Given the description of an element on the screen output the (x, y) to click on. 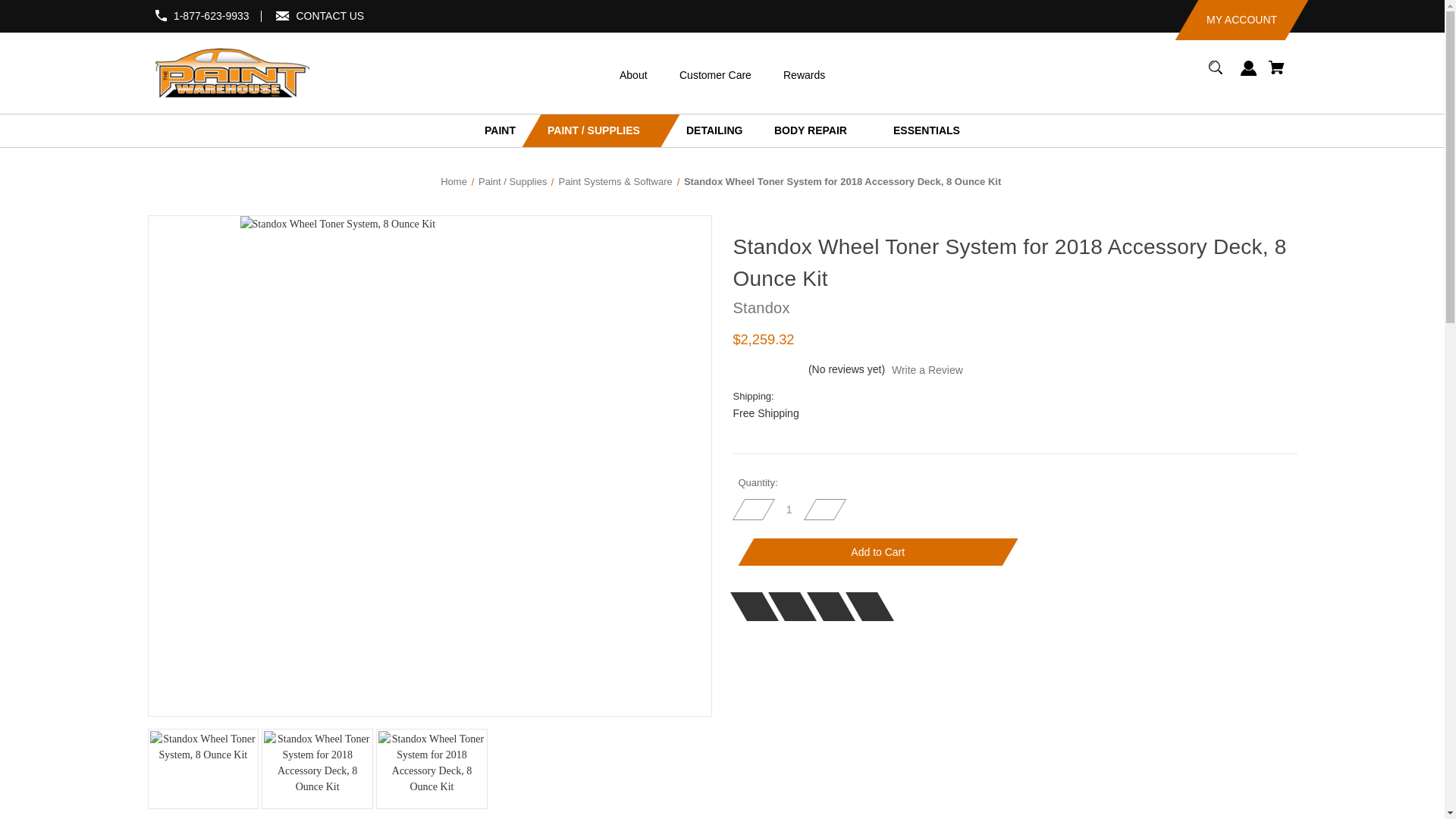
Standox Wheel Toner System, 8 Ounce Kit (203, 768)
The Paint Warehouse Inc. (231, 72)
1 (788, 508)
Rewards (794, 74)
CONTACT US (329, 15)
MAGNIFYING GLASS IMAGE LARGE RED CIRCLE WITH A BLACK BORDER (1215, 67)
MY ACCOUNT (1229, 20)
Customer Care (705, 74)
1-877-623-9933 (210, 15)
About (623, 74)
